Given the description of an element on the screen output the (x, y) to click on. 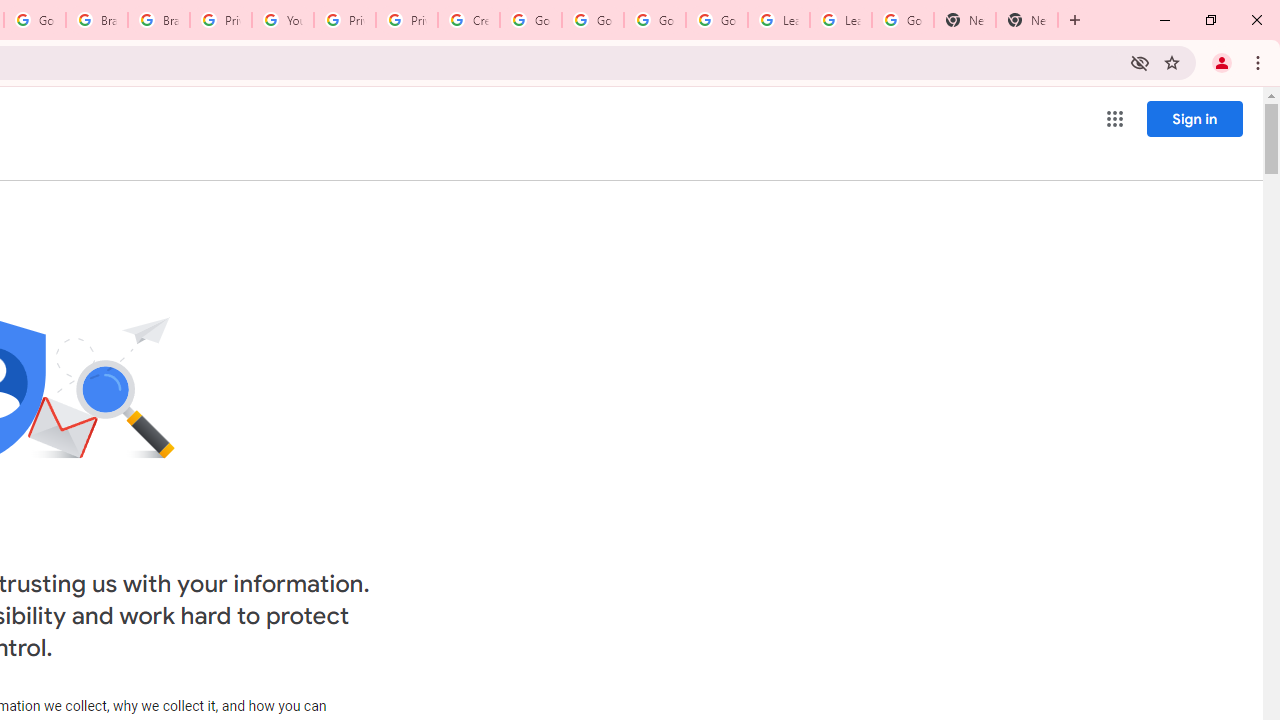
Google Account Help (654, 20)
YouTube (282, 20)
Google Account (902, 20)
New Tab (1026, 20)
